Given the description of an element on the screen output the (x, y) to click on. 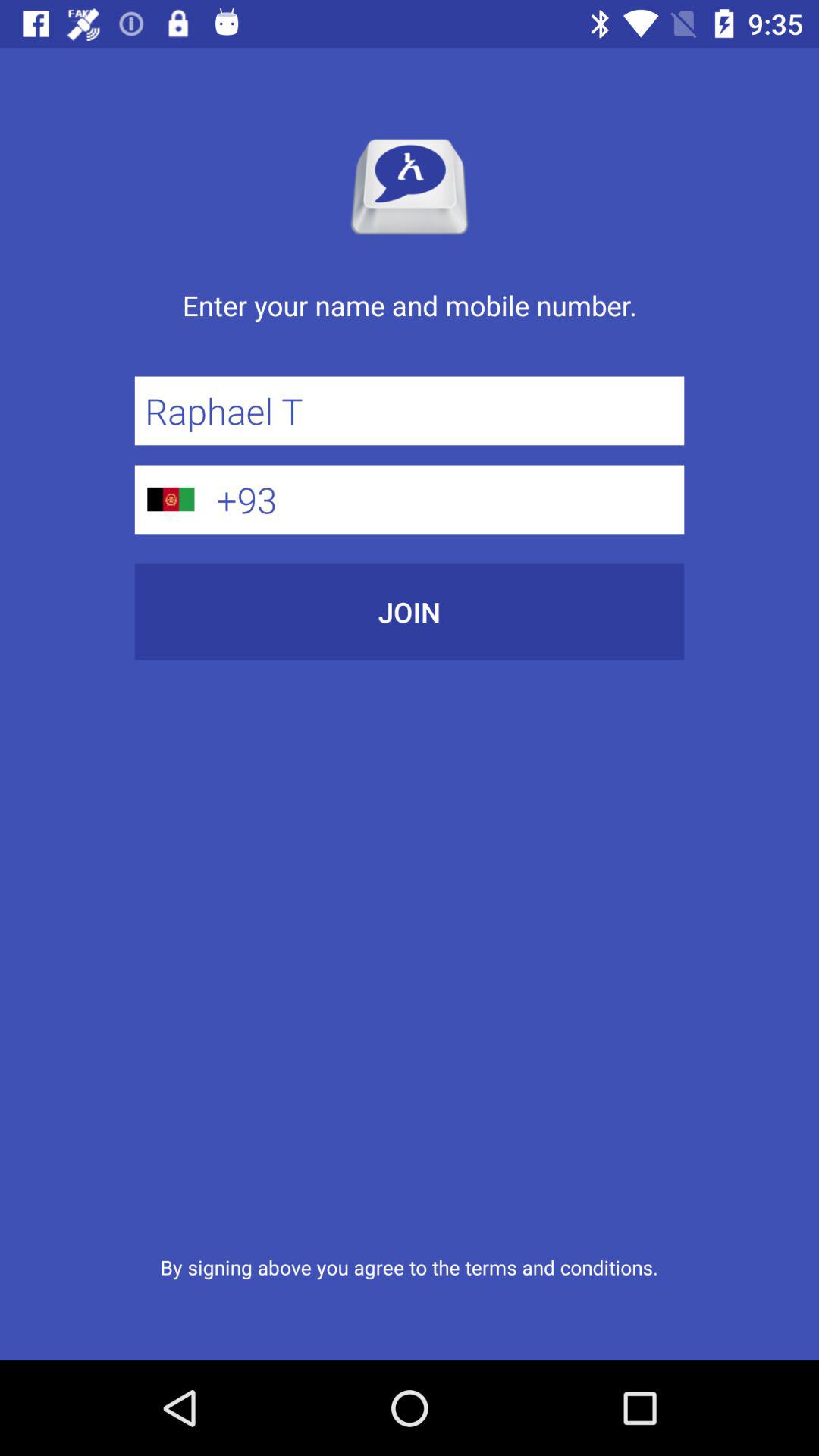
click the raphael t (409, 410)
